Given the description of an element on the screen output the (x, y) to click on. 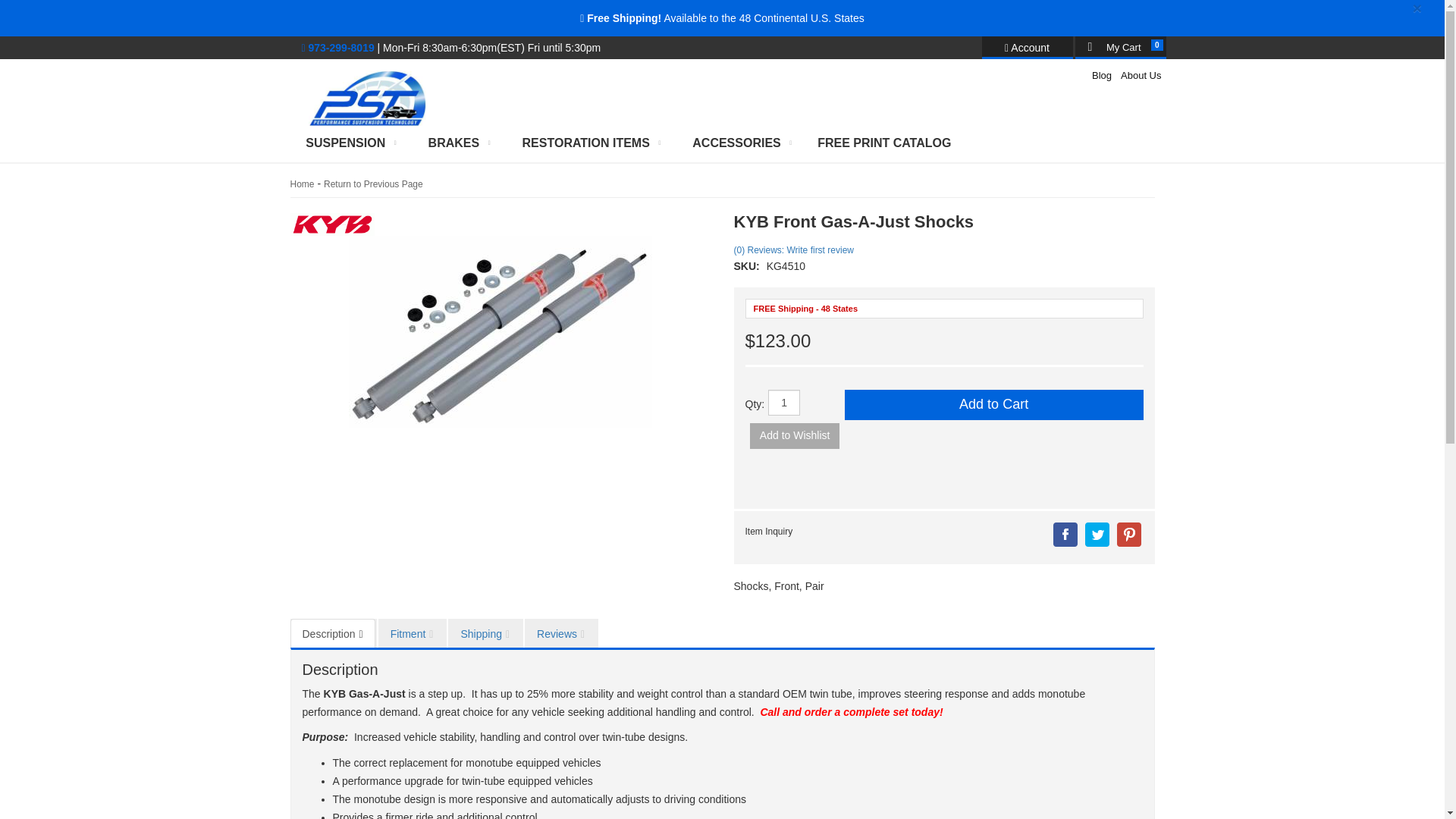
Suspension (347, 143)
SUSPENSION (347, 143)
Blog (1101, 75)
RESTORATION ITEMS (588, 143)
Performance Suspension Technology Homepage (368, 85)
Phone (337, 47)
1 (783, 402)
Account (1026, 47)
0 (1120, 46)
Learn about PST (1140, 75)
About Us (1140, 75)
BRAKES (457, 143)
Read the PST Blog (1101, 75)
